Given the description of an element on the screen output the (x, y) to click on. 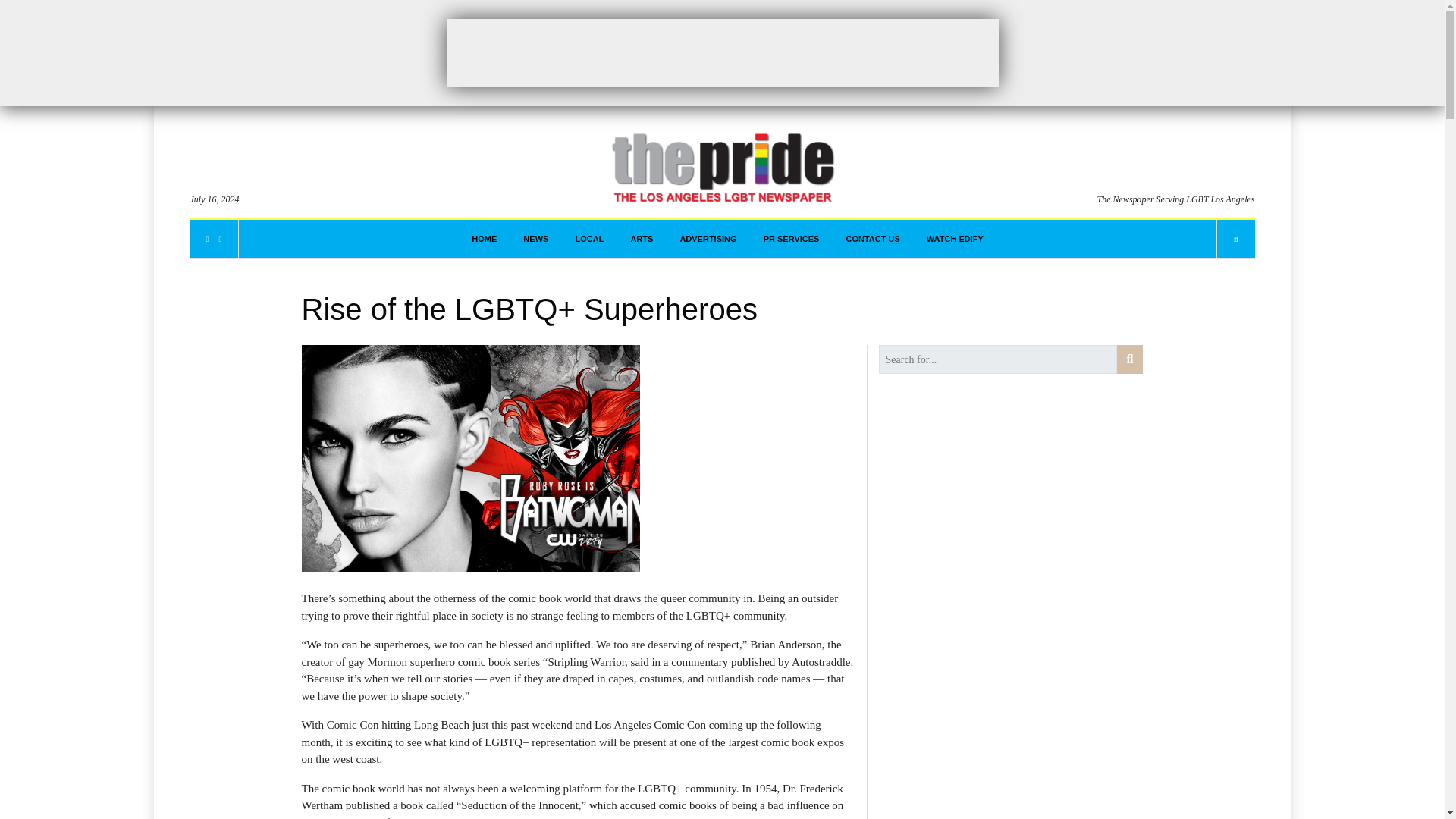
3rd party ad content (721, 52)
WATCH EDIFY (955, 238)
PR SERVICES (790, 238)
CONTACT US (872, 238)
ADVERTISING (707, 238)
